Given the description of an element on the screen output the (x, y) to click on. 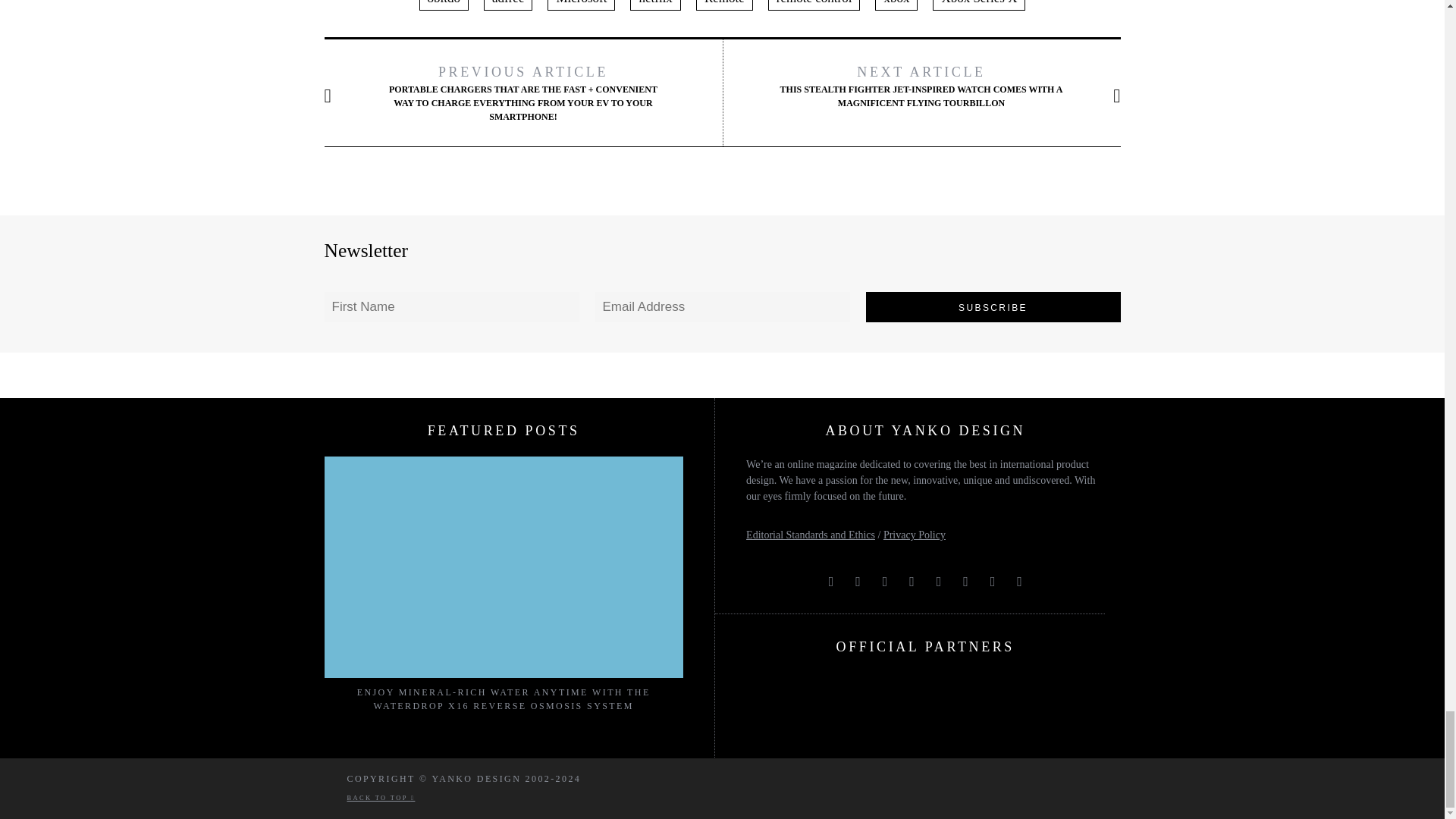
Privacy Policy (913, 534)
Subscribe (993, 306)
Editorial Standards and Ethics (810, 534)
